Given the description of an element on the screen output the (x, y) to click on. 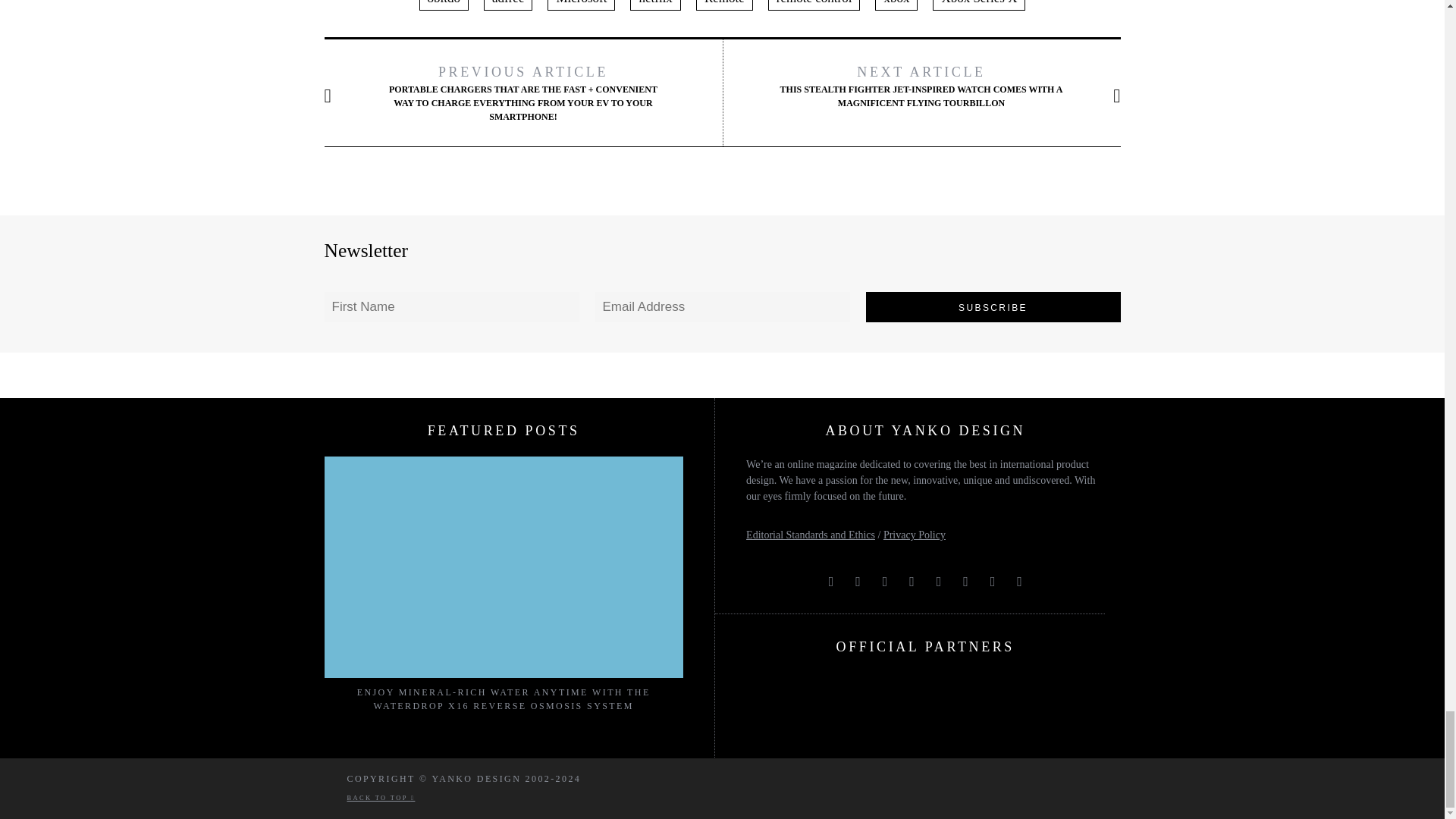
Privacy Policy (913, 534)
Subscribe (993, 306)
Editorial Standards and Ethics (810, 534)
